Given the description of an element on the screen output the (x, y) to click on. 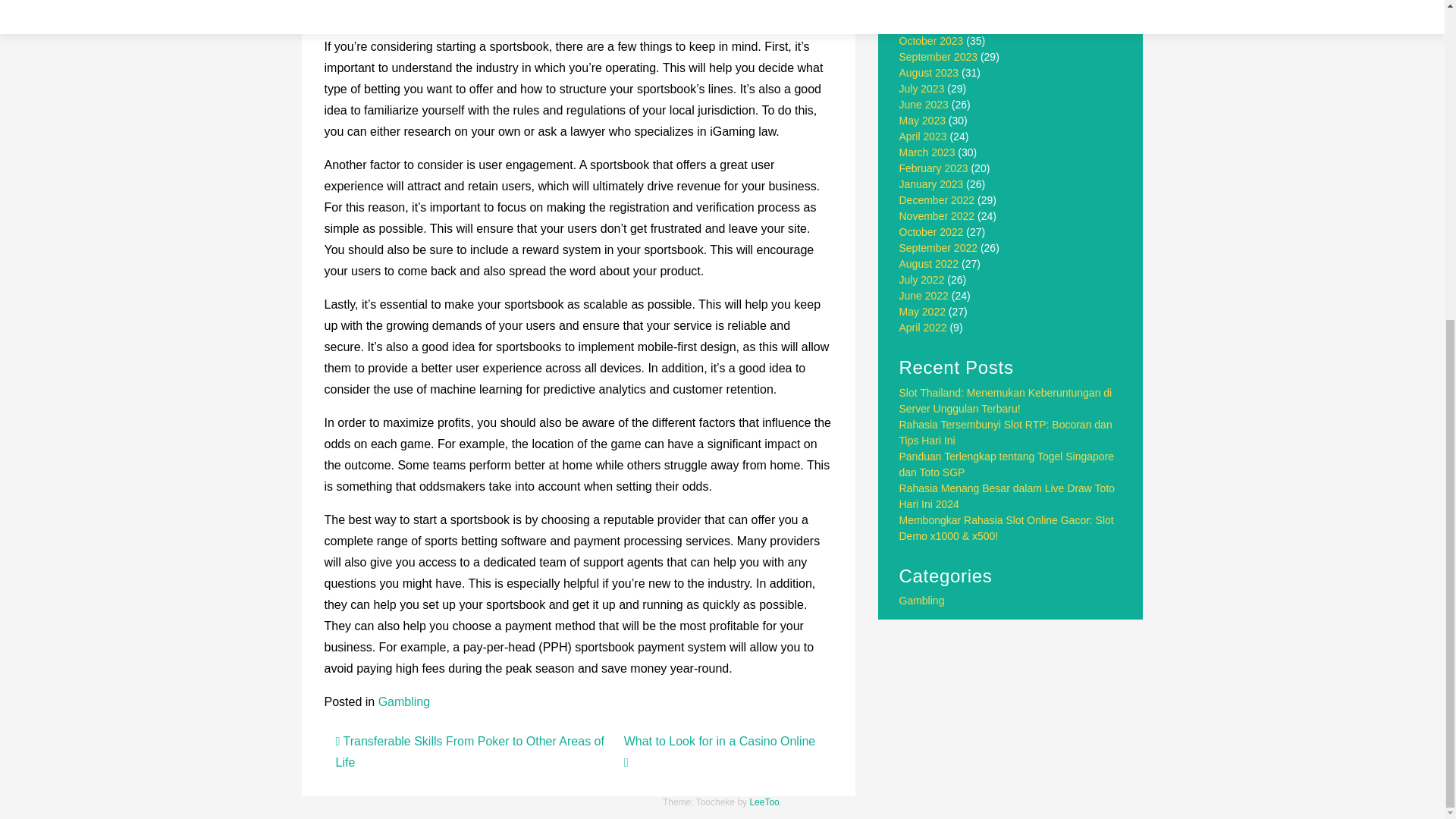
August 2022 (929, 263)
March 2023 (927, 152)
October 2022 (931, 232)
September 2022 (938, 247)
July 2023 (921, 88)
May 2023 (921, 120)
July 2022 (921, 279)
Rahasia Tersembunyi Slot RTP: Bocoran dan Tips Hari Ini (1005, 432)
September 2023 (938, 56)
June 2023 (924, 104)
What to Look for in a Casino Online  (721, 751)
November 2023 (937, 24)
Rahasia Menang Besar dalam Live Draw Toto Hari Ini 2024 (1007, 496)
November 2022 (937, 215)
 Transferable Skills From Poker to Other Areas of Life (469, 751)
